Given the description of an element on the screen output the (x, y) to click on. 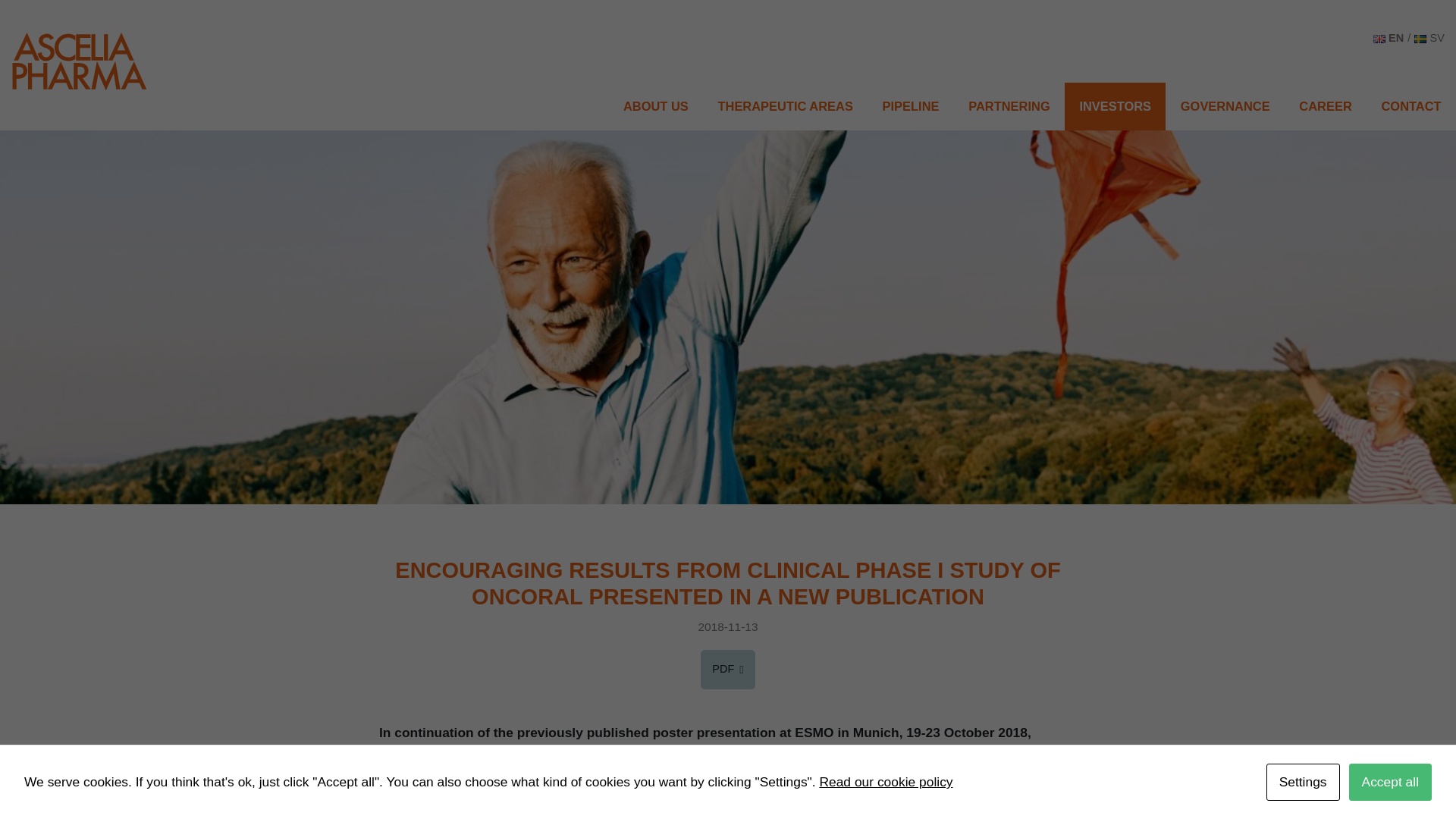
EN (1389, 37)
Partnering (1008, 106)
GOVERNANCE (1225, 106)
INVESTORS (1115, 106)
Therapeutic areas (785, 106)
SV (79, 60)
THERAPEUTIC AREAS (1428, 37)
About us (785, 106)
PIPELINE (655, 106)
PARTNERING (910, 106)
ABOUT US (1008, 106)
Pipeline (655, 106)
